Given the description of an element on the screen output the (x, y) to click on. 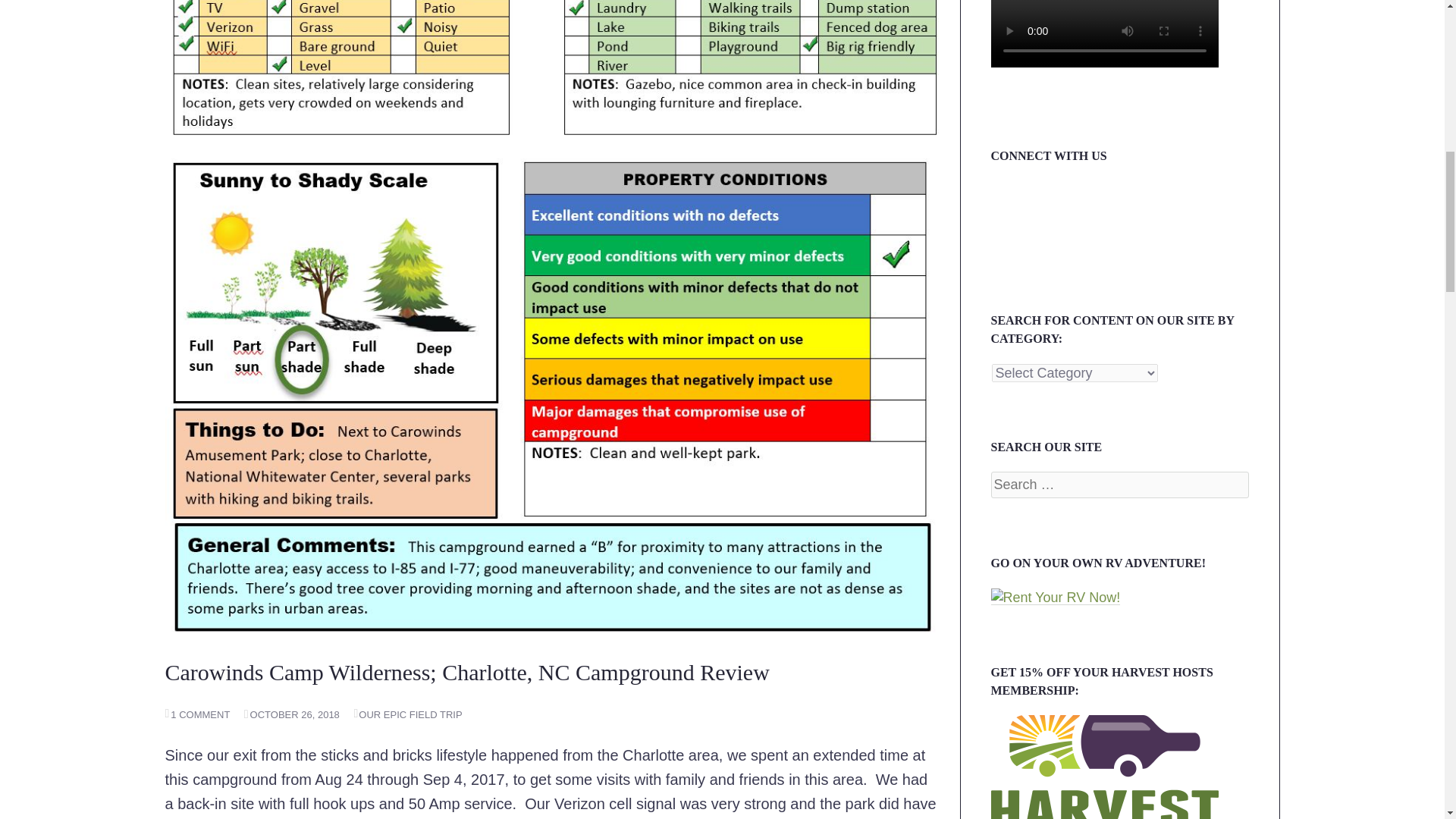
OUR EPIC FIELD TRIP (407, 714)
1:31 am (291, 714)
View all posts by Our Epic Field Trip (407, 714)
1 COMMENT (197, 714)
OCTOBER 26, 2018 (291, 714)
